Given the description of an element on the screen output the (x, y) to click on. 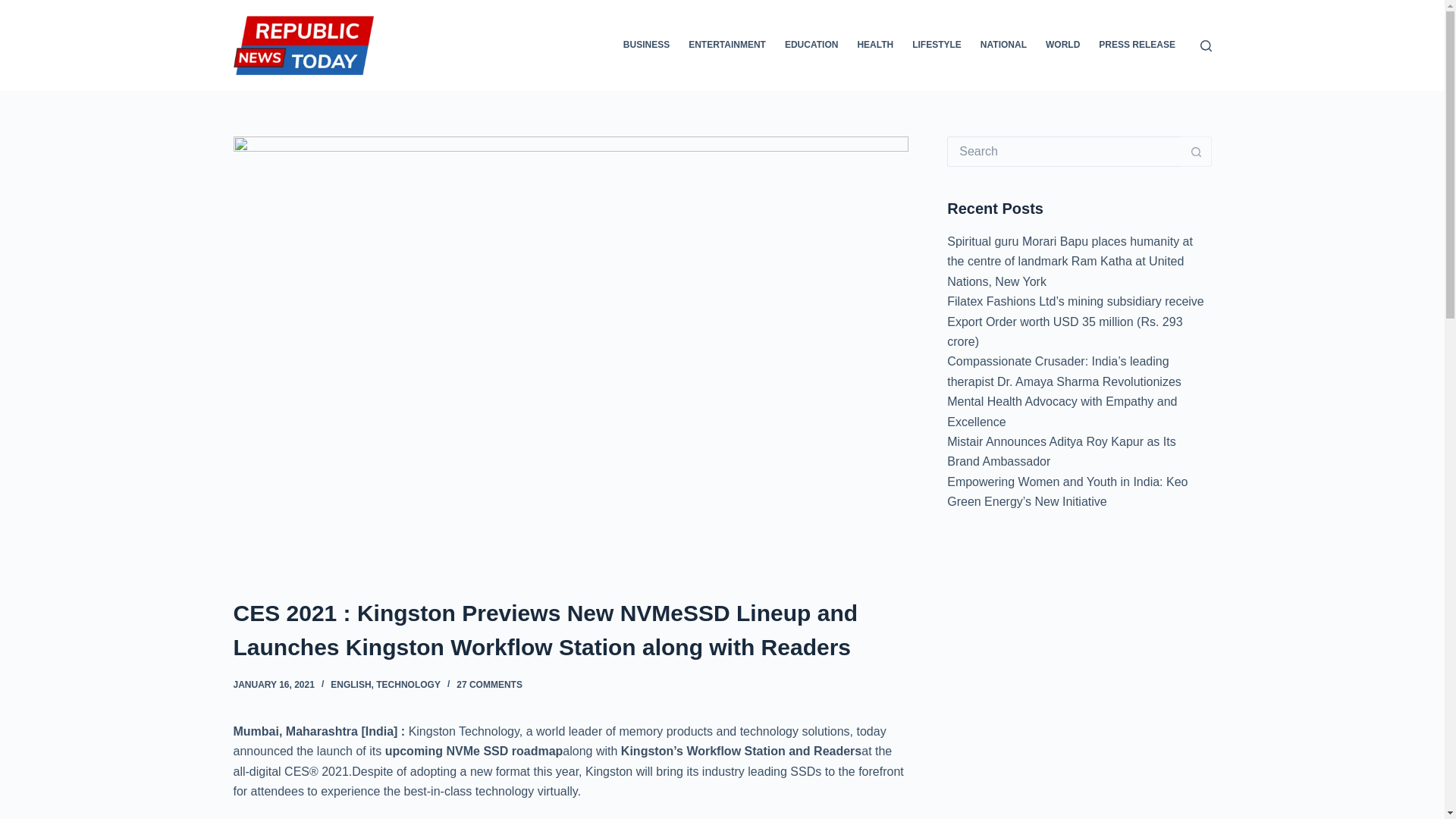
Mistair Announces Aditya Roy Kapur as Its Brand Ambassador (1060, 450)
ENTERTAINMENT (727, 45)
Search for... (1063, 151)
27 COMMENTS (489, 684)
TECHNOLOGY (408, 684)
Skip to content (15, 7)
PRESS RELEASE (1137, 45)
ENGLISH (350, 684)
